Given the description of an element on the screen output the (x, y) to click on. 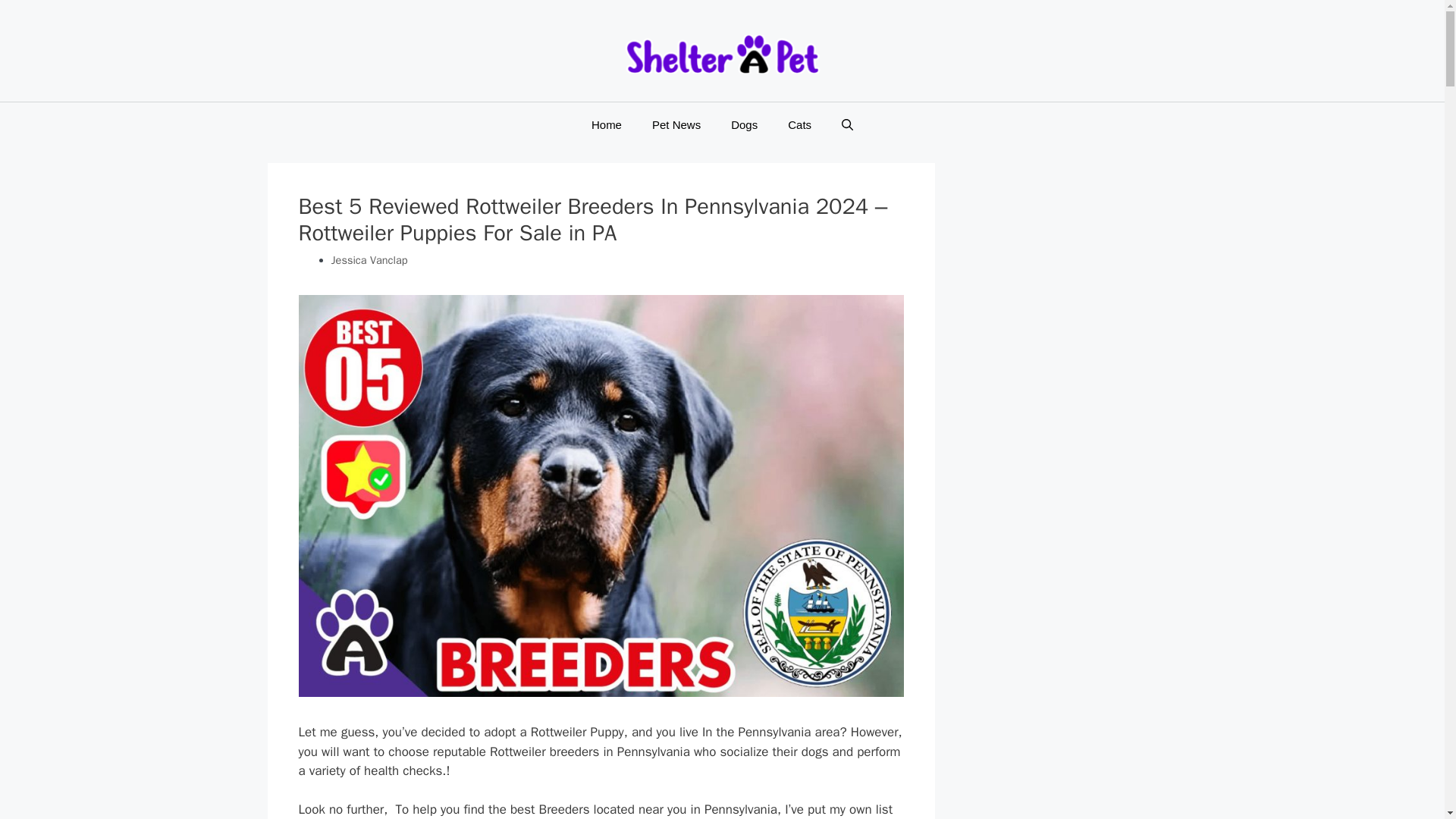
Dogs (744, 125)
Cats (800, 125)
Jessica Vanclap (369, 259)
Pet News (676, 125)
The Pet Guide Home (722, 53)
The Pet Guide Home (722, 54)
Jessica Vanclap (369, 259)
Home (606, 125)
